Given the description of an element on the screen output the (x, y) to click on. 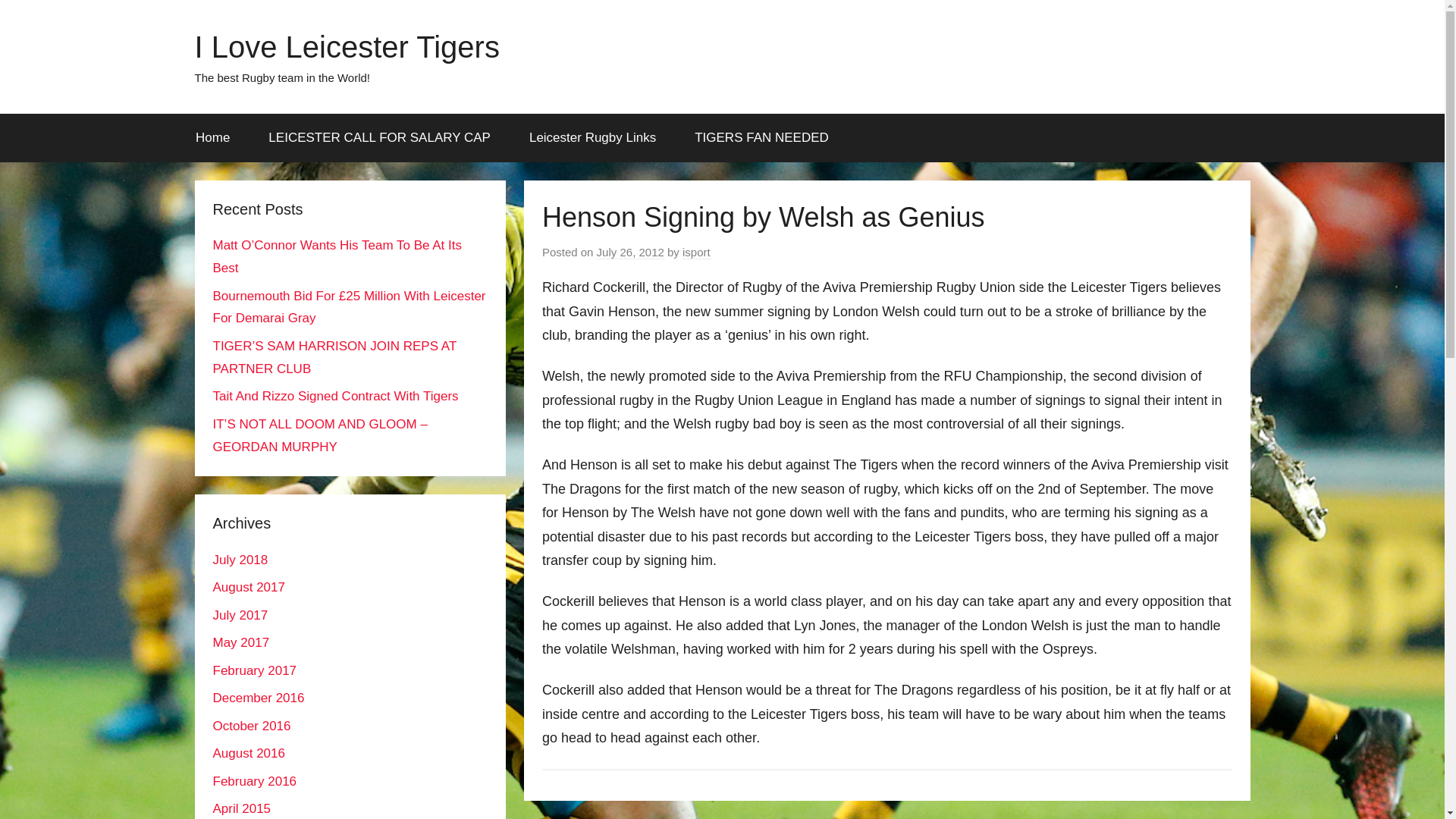
August 2017 (247, 586)
July 2018 (239, 559)
May 2017 (240, 642)
February 2016 (254, 780)
July 26, 2012 (629, 252)
I Love Leicester Tigers (346, 46)
Home (212, 137)
isport (696, 252)
April 2015 (241, 808)
TIGERS FAN NEEDED (761, 137)
